Given the description of an element on the screen output the (x, y) to click on. 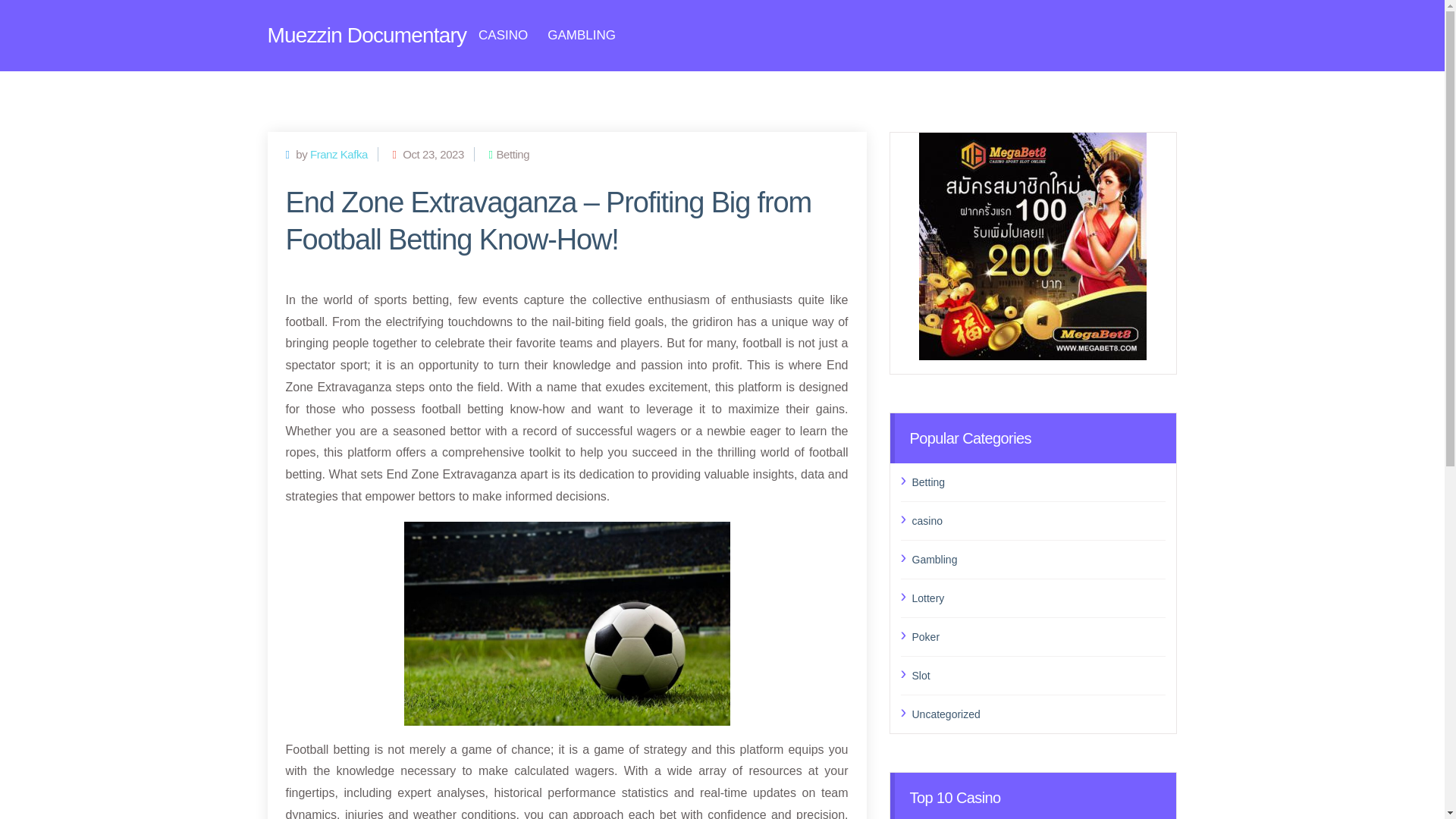
Poker (1038, 636)
Slot (1038, 675)
Betting (1038, 481)
Muezzin Documentary (365, 35)
Franz Kafka (339, 153)
Gambling (1038, 558)
Lottery (1038, 598)
casino (1038, 520)
CASINO (503, 35)
Uncategorized (1038, 713)
GAMBLING (581, 35)
